Given the description of an element on the screen output the (x, y) to click on. 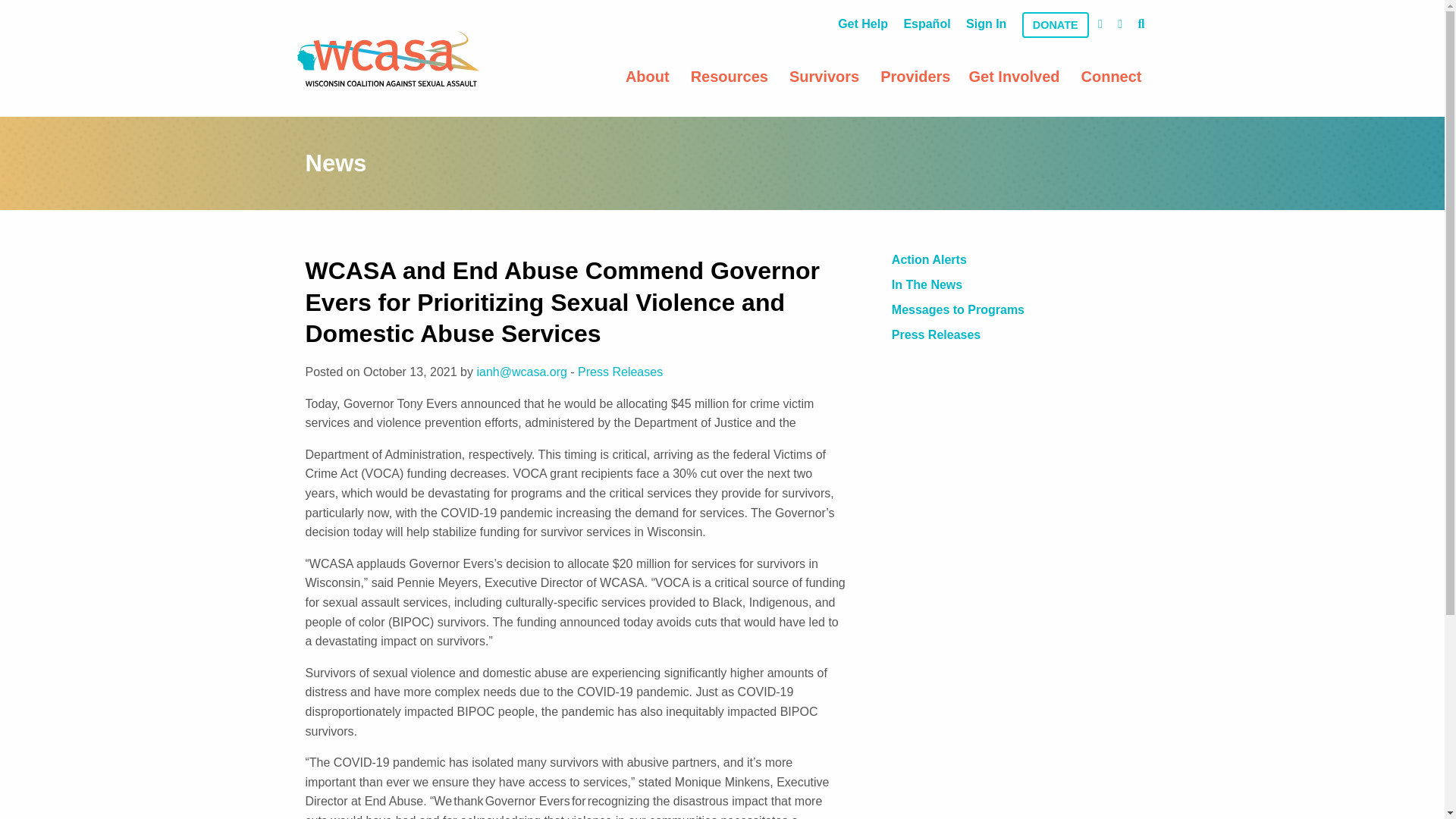
Sign In (985, 23)
About (648, 76)
home (388, 58)
Get Help (862, 23)
DONATE (1055, 24)
